Given the description of an element on the screen output the (x, y) to click on. 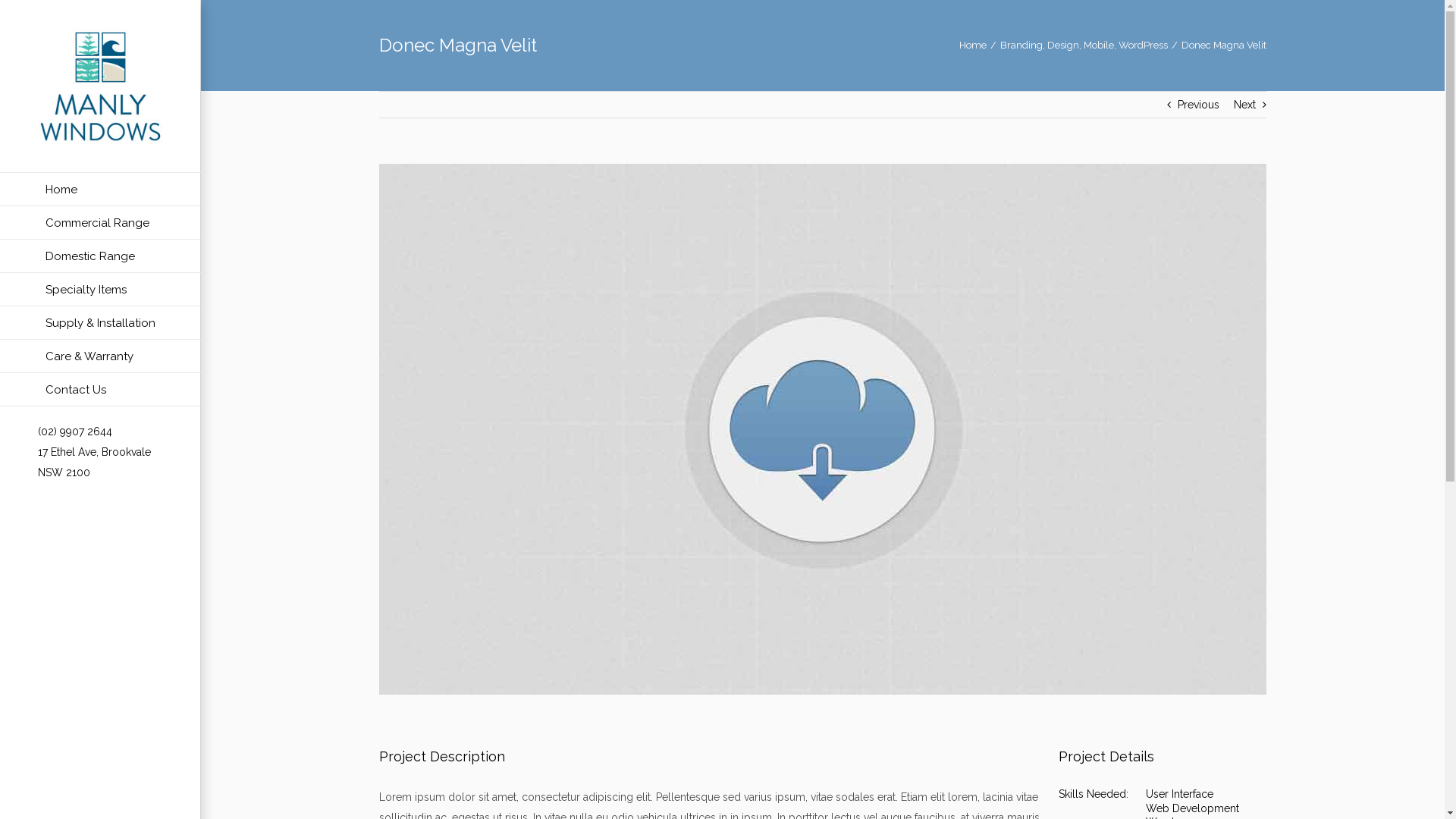
Specialty Items Element type: text (100, 289)
Previous Element type: text (1198, 104)
Supply & Installation Element type: text (100, 322)
View Larger Image Element type: text (822, 428)
Mobile Element type: text (1098, 44)
WordPress Element type: text (1142, 44)
Design Element type: text (1063, 44)
(02) 9907 2644 Element type: text (74, 431)
Next Element type: text (1244, 104)
Web Development Element type: text (1192, 808)
17 Ethel Ave, Brookvale NSW 2100 Element type: text (93, 461)
Home Element type: text (972, 44)
Care & Warranty Element type: text (100, 356)
User Interface Element type: text (1179, 793)
Domestic Range Element type: text (100, 256)
Commercial Range Element type: text (100, 222)
Home Element type: text (100, 189)
Branding Element type: text (1021, 44)
Contact Us Element type: text (100, 389)
